Given the description of an element on the screen output the (x, y) to click on. 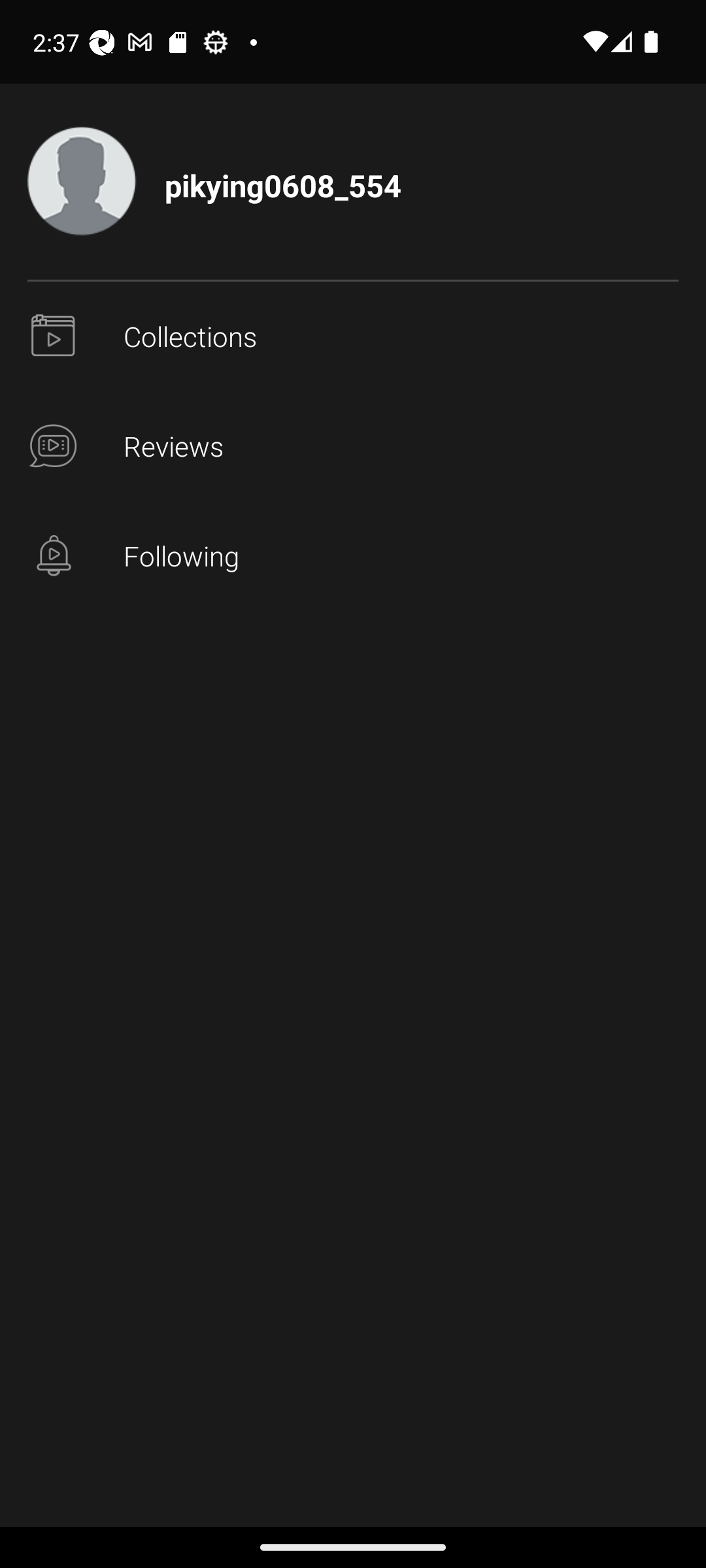
profile_page_user_collections Collections (353, 337)
Reviews (353, 446)
Following (353, 556)
